Given the description of an element on the screen output the (x, y) to click on. 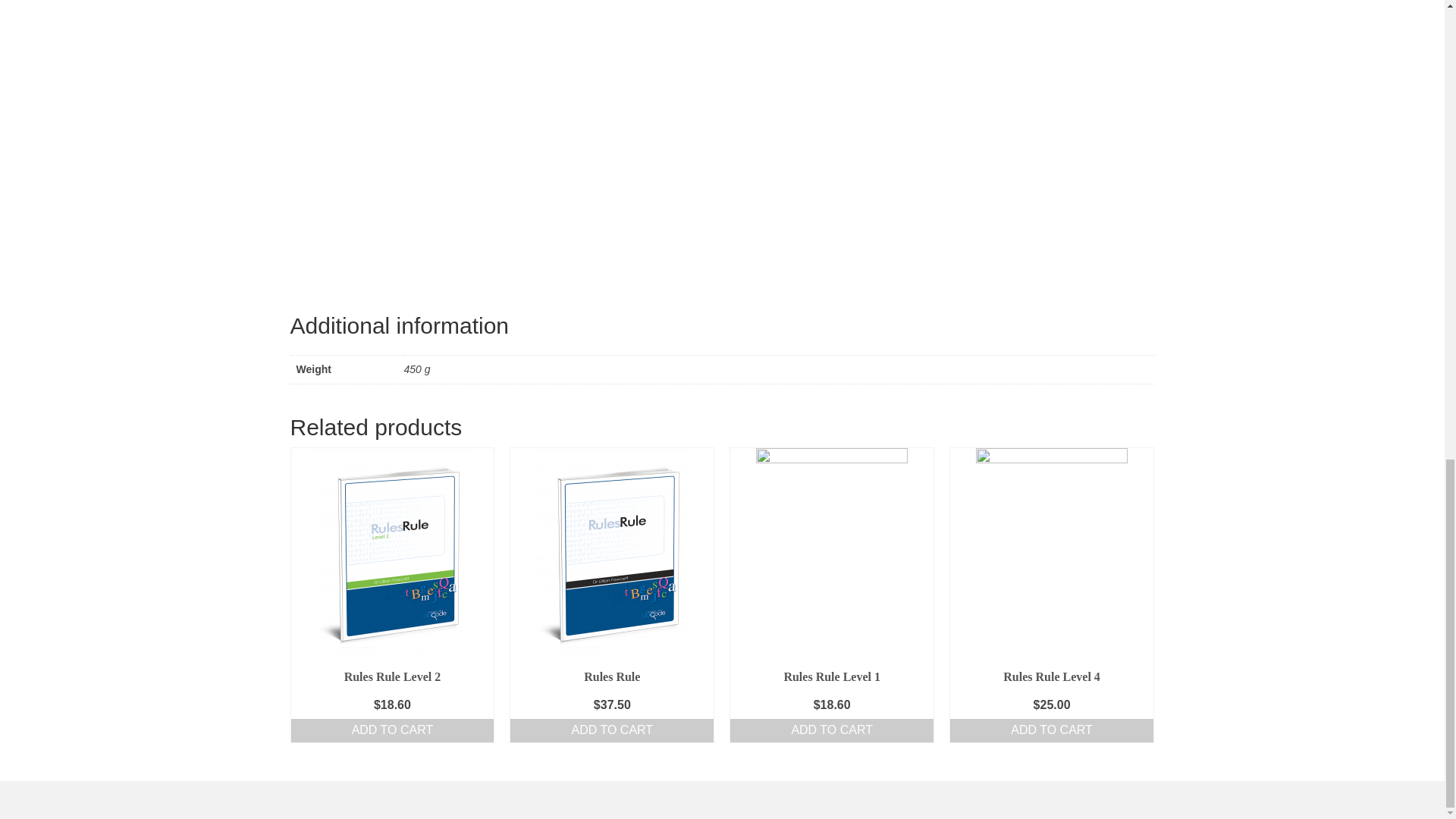
ADD TO CART (831, 730)
ADD TO CART (1051, 730)
Rules Rule Level 4 (1051, 676)
Rules Rule Level 1 (831, 676)
Rules Rule (612, 676)
Rules Rule Level 2 (393, 676)
ADD TO CART (393, 730)
ADD TO CART (612, 730)
